Given the description of an element on the screen output the (x, y) to click on. 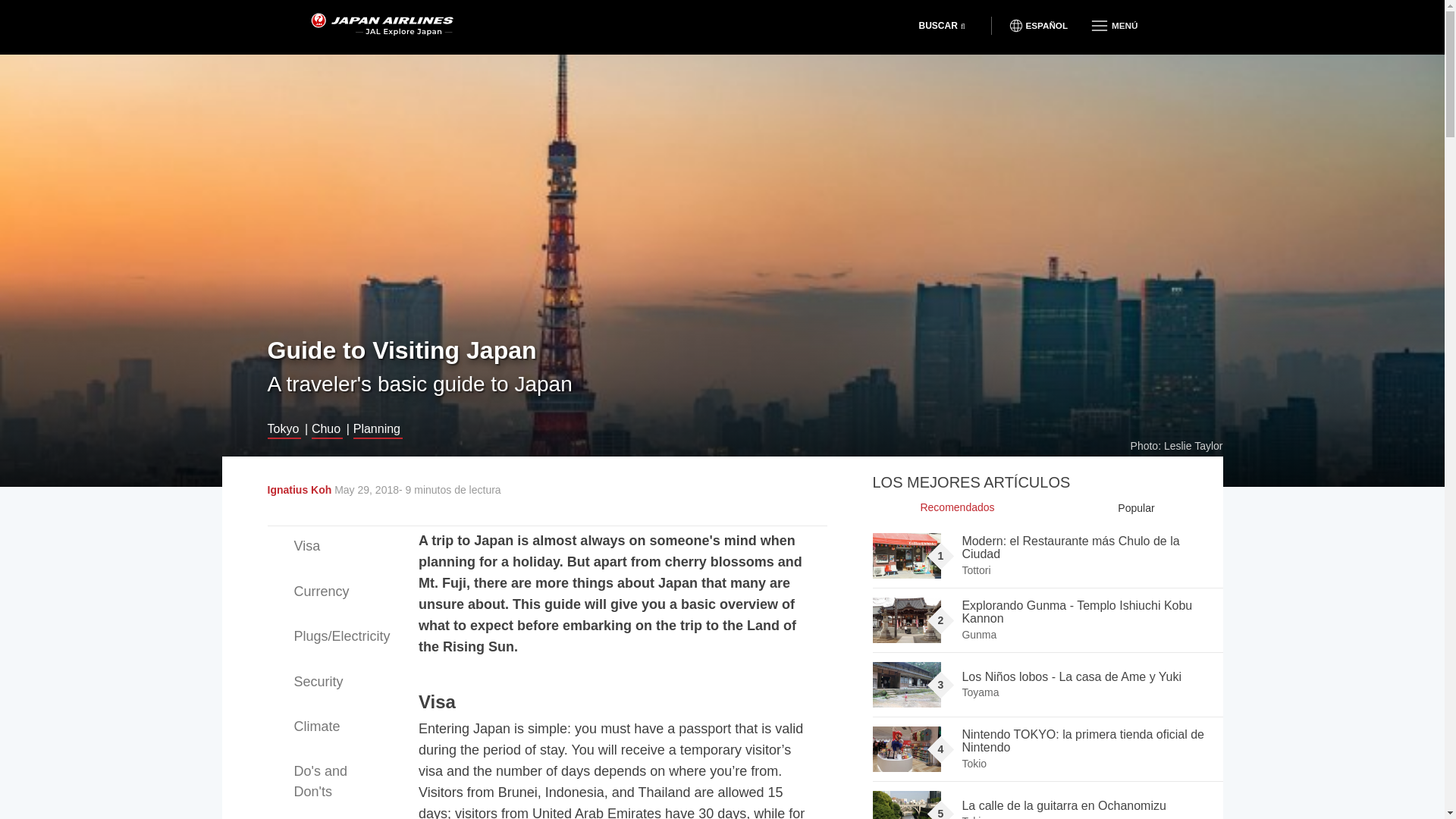
Explorando Gunma - Templo Ishiuchi Kobu Kannon (906, 619)
Nintendo TOKYO: la primera tienda oficial de Nintendo (906, 749)
La calle de la guitarra en Ochanomizu (906, 805)
